Given the description of an element on the screen output the (x, y) to click on. 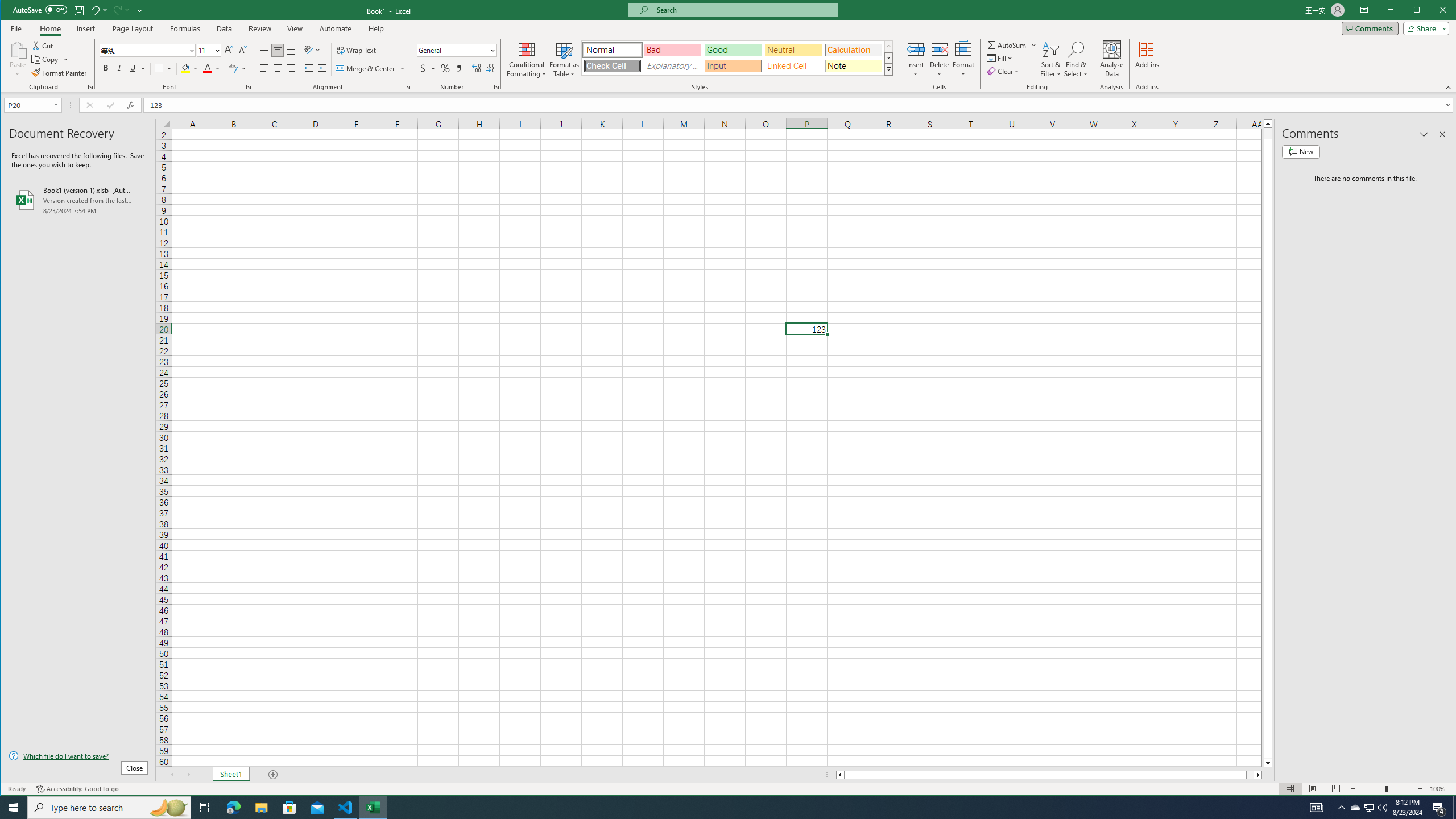
New comment (1300, 151)
Format as Table (564, 59)
Calculation (853, 49)
Increase Indent (322, 68)
